Given the description of an element on the screen output the (x, y) to click on. 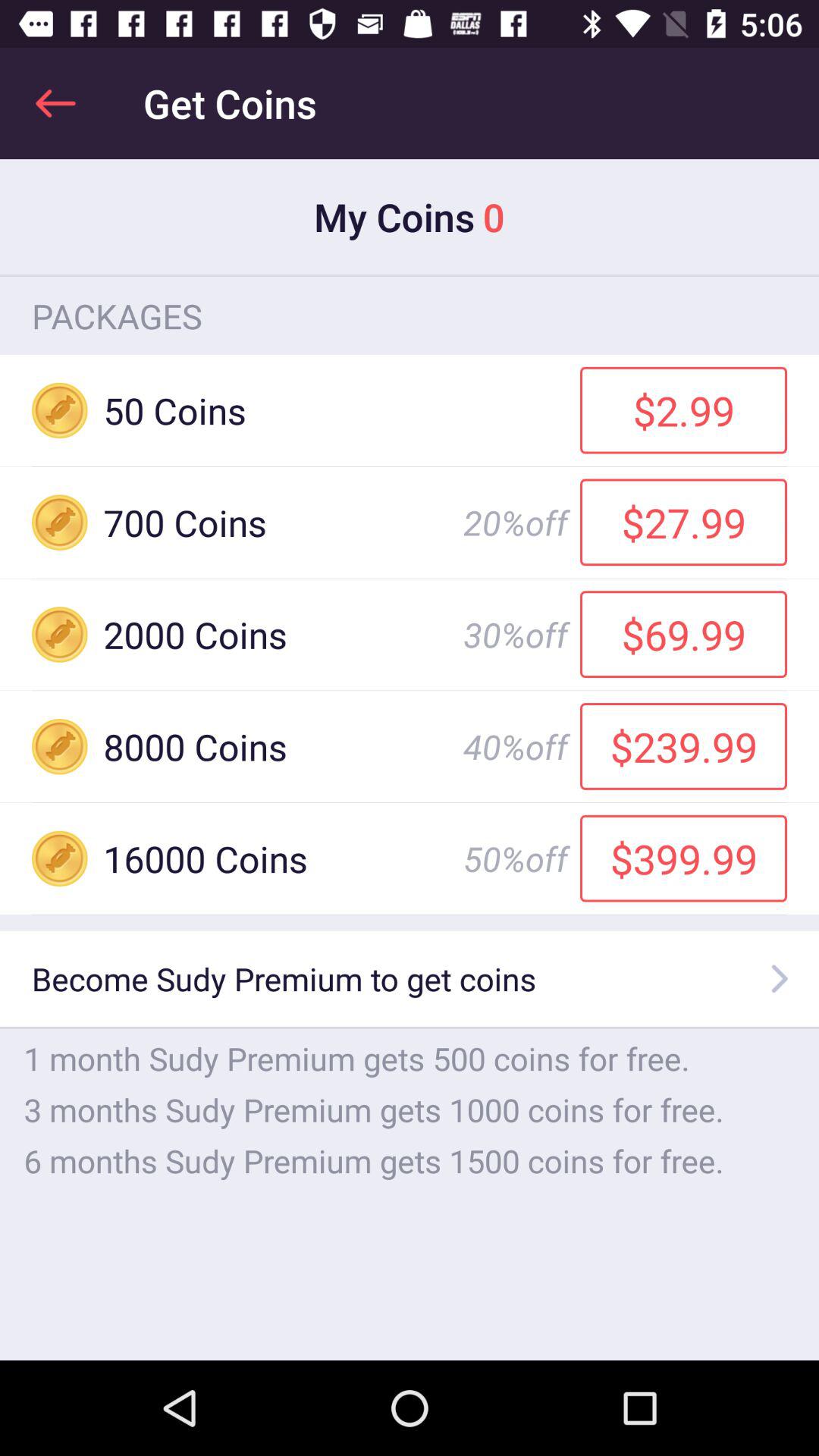
go to back (55, 103)
